Given the description of an element on the screen output the (x, y) to click on. 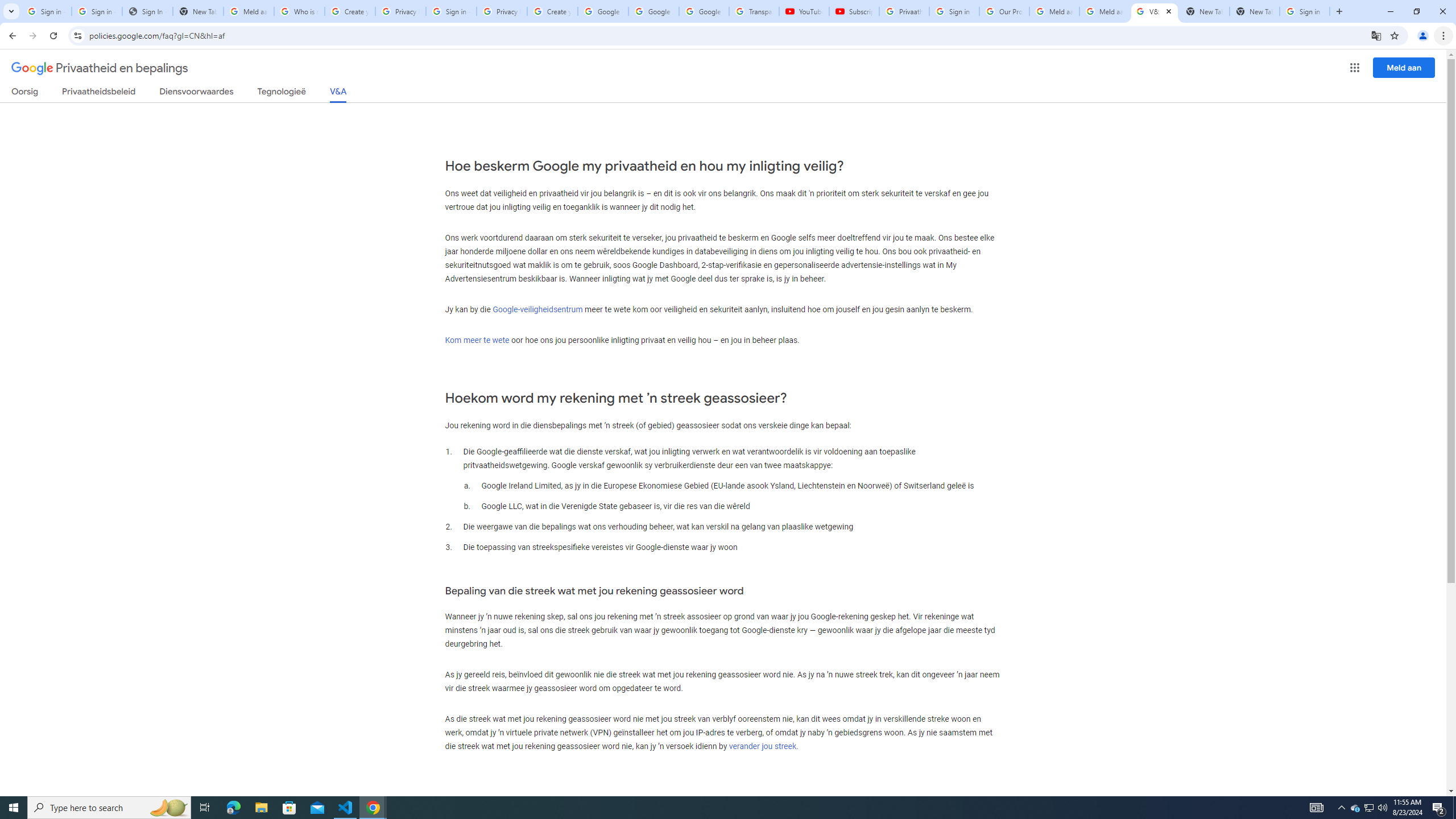
Google-programme (1355, 67)
verander jou streek. (762, 746)
Create your Google Account (552, 11)
Who is my administrator? - Google Account Help (299, 11)
Sign in - Google Accounts (97, 11)
Privaatheidsbeleid (98, 93)
Subscriptions - YouTube (853, 11)
